Given the description of an element on the screen output the (x, y) to click on. 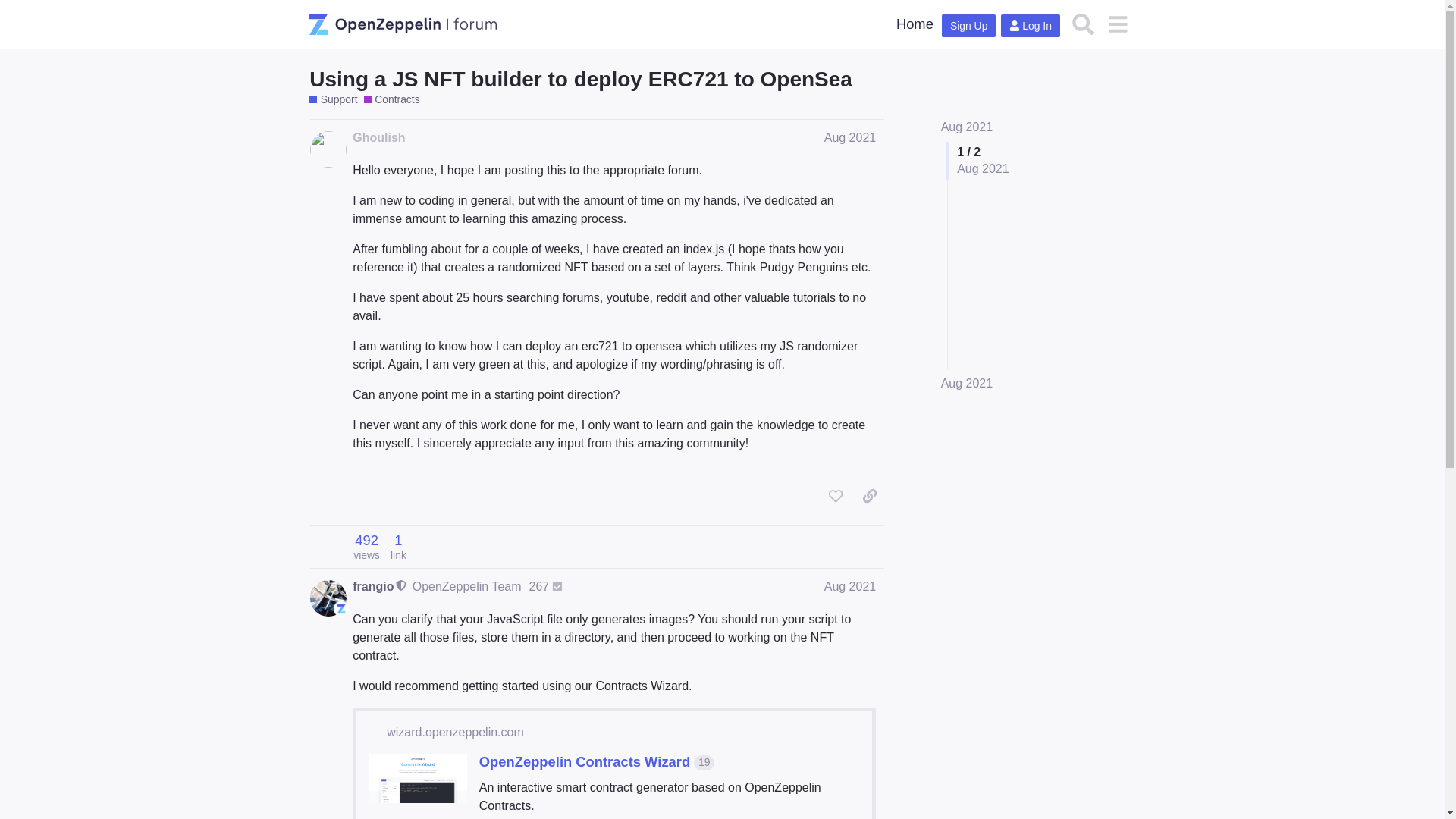
Home (915, 23)
Aug 2021 (966, 126)
Post date (850, 137)
menu (1117, 23)
wizard.openzeppelin.com (455, 732)
OpenZeppelin Contracts Wizard 19 (596, 761)
267 (545, 586)
Using a JS NFT builder to deploy ERC721 to OpenSea (579, 78)
Aug 2021 (850, 585)
